Given the description of an element on the screen output the (x, y) to click on. 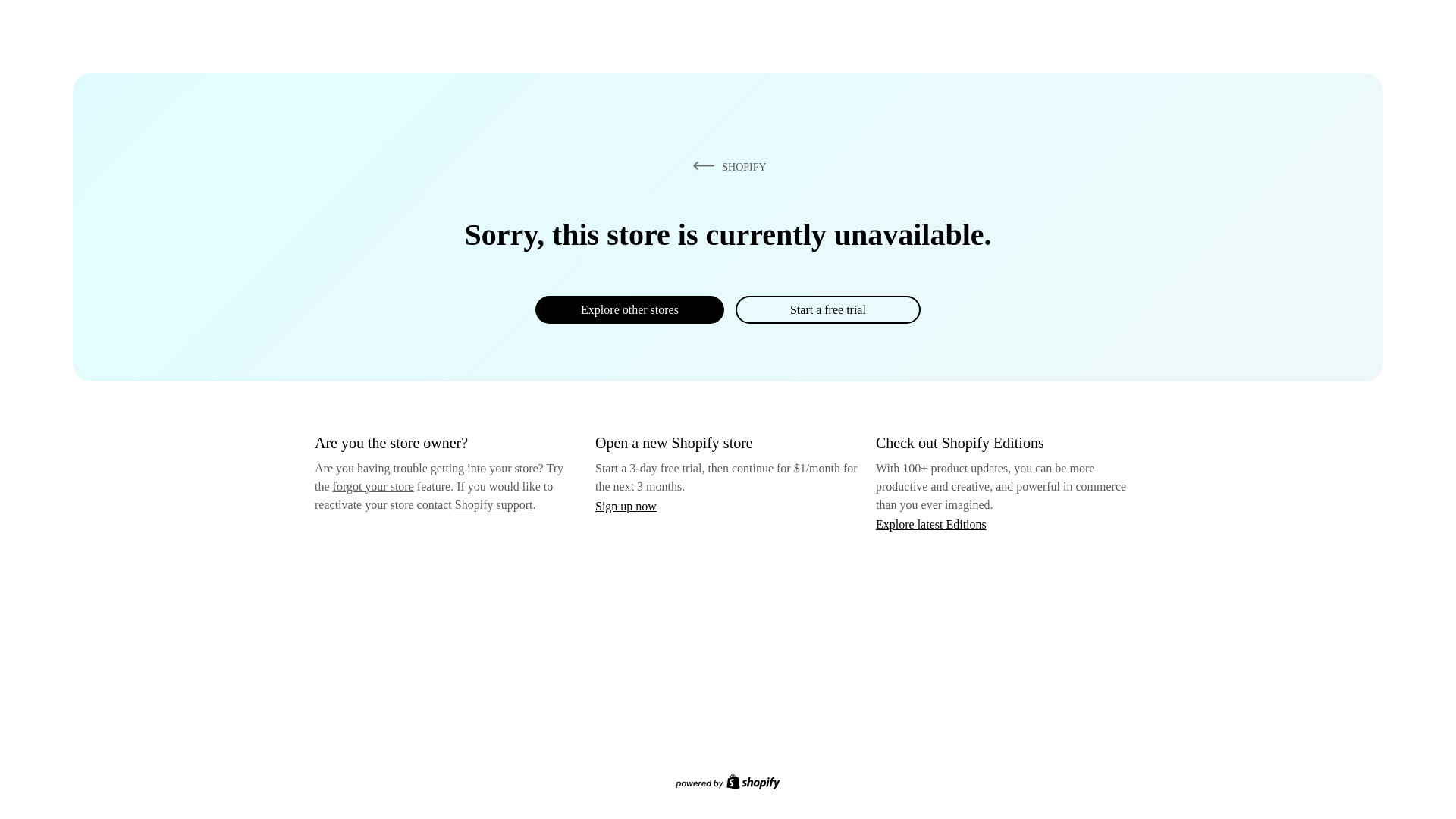
Shopify support (493, 504)
forgot your store (373, 486)
Start a free trial (827, 309)
Explore latest Editions (931, 523)
Explore other stores (629, 309)
SHOPIFY (726, 166)
Sign up now (625, 505)
